Given the description of an element on the screen output the (x, y) to click on. 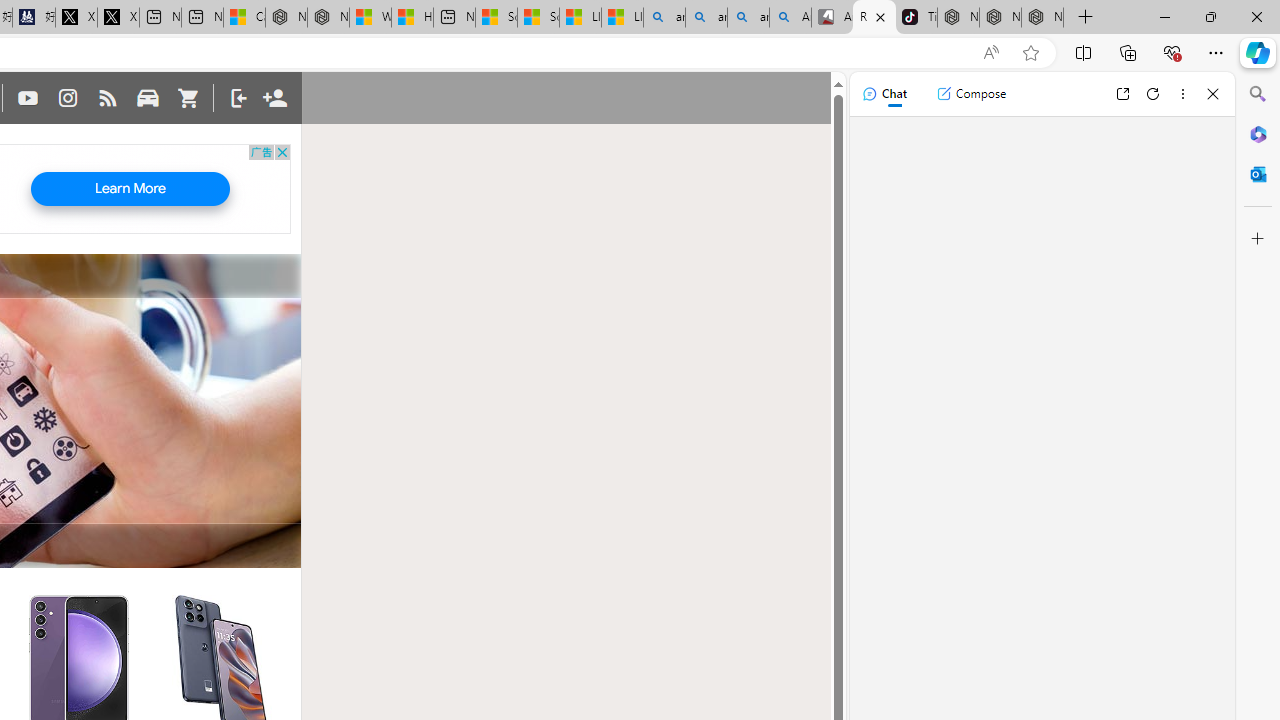
Nordace Siena Pro 15 Backpack (1000, 17)
Microsoft 365 (1258, 133)
Nordace - Summer Adventures 2024 (328, 17)
amazon - Search Images (748, 17)
Learn More (129, 189)
Customize (1258, 239)
X (118, 17)
